Given the description of an element on the screen output the (x, y) to click on. 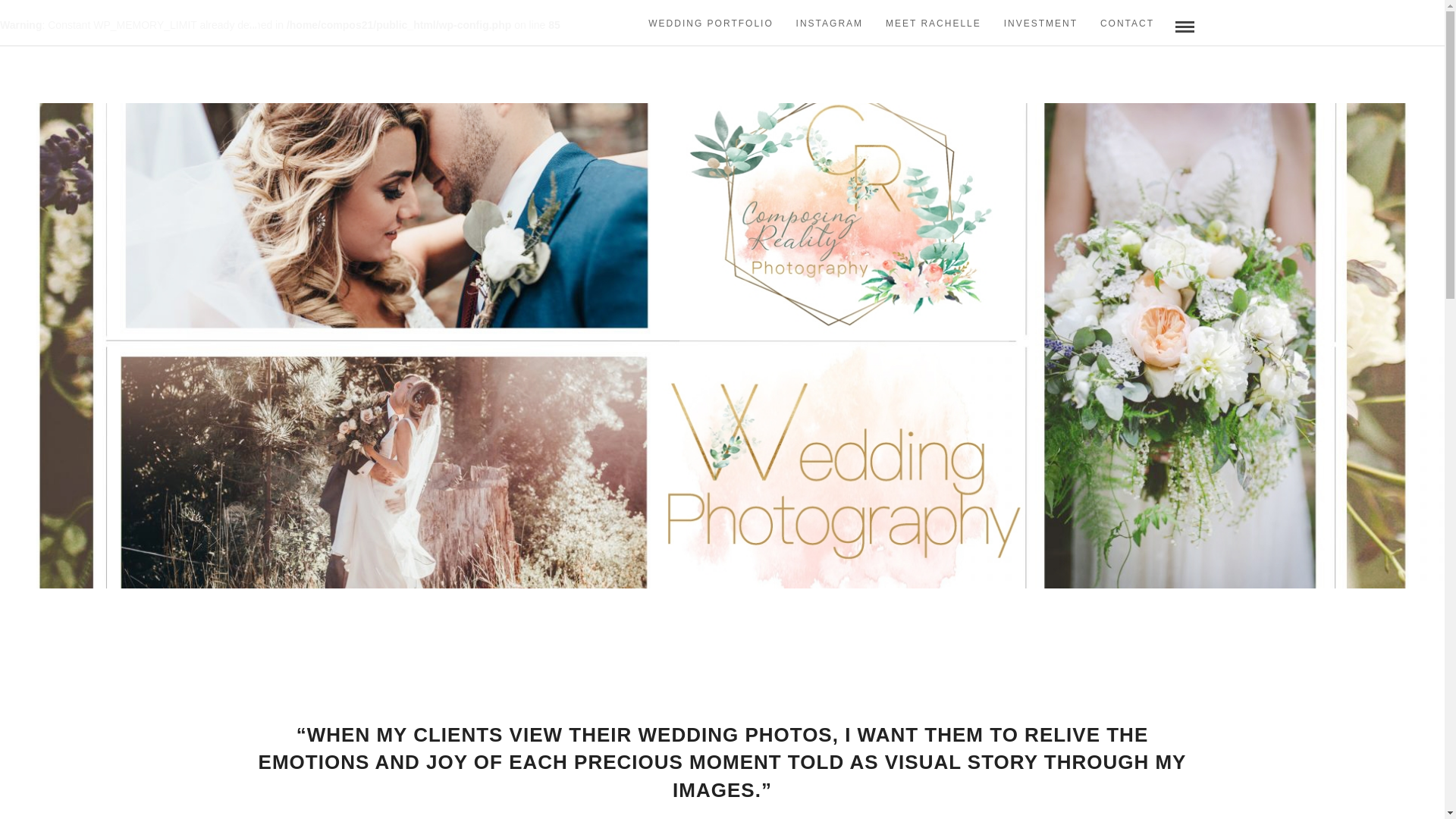
WEDDING PORTFOLIO (711, 23)
INVESTMENT (1040, 23)
CONTACT (1126, 23)
INSTAGRAM (829, 23)
MEET RACHELLE (933, 23)
